Given the description of an element on the screen output the (x, y) to click on. 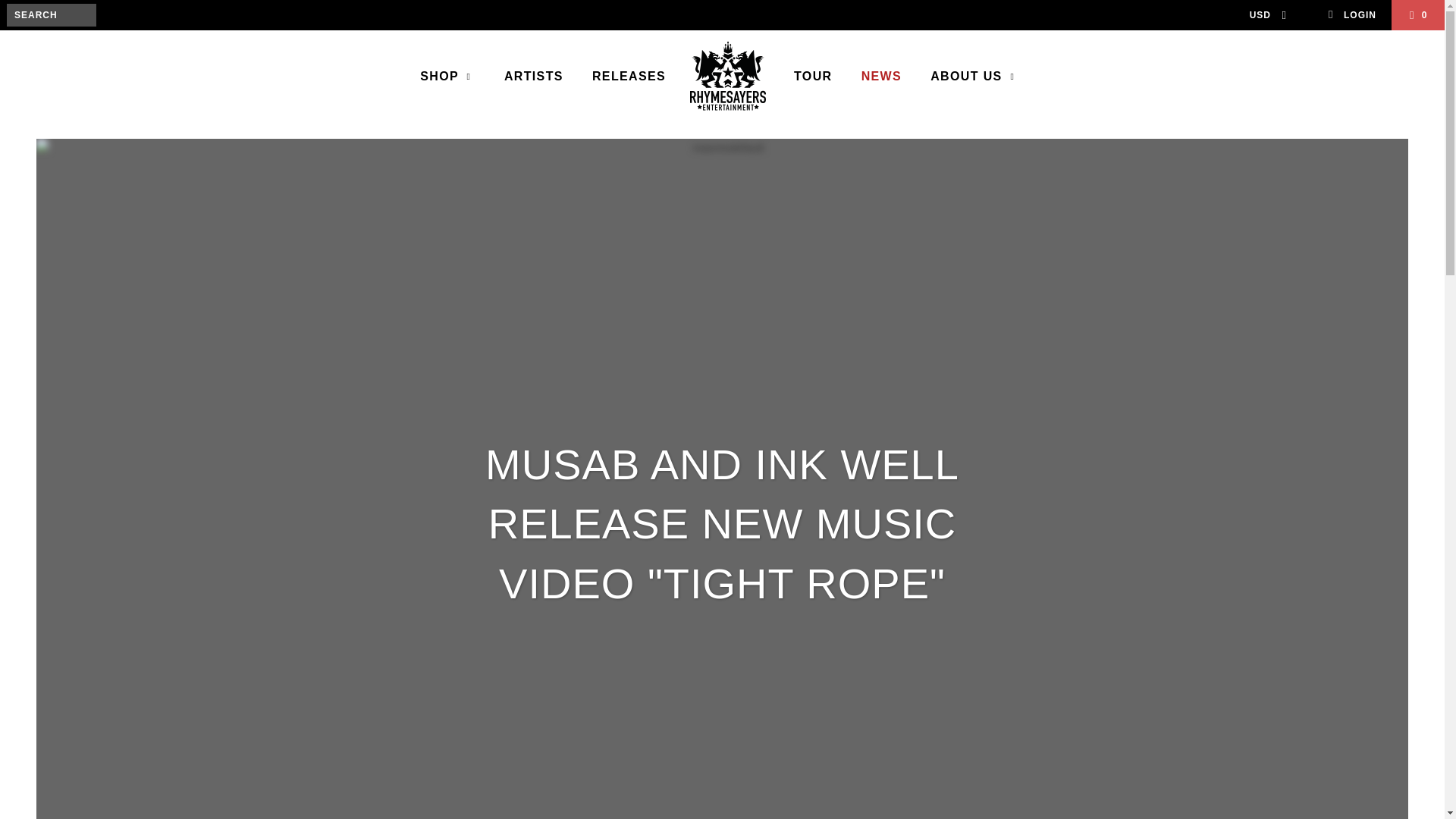
Rhymesayers Entertainment  (727, 76)
Search (62, 35)
USD (1263, 15)
My Account  (1351, 15)
